Given the description of an element on the screen output the (x, y) to click on. 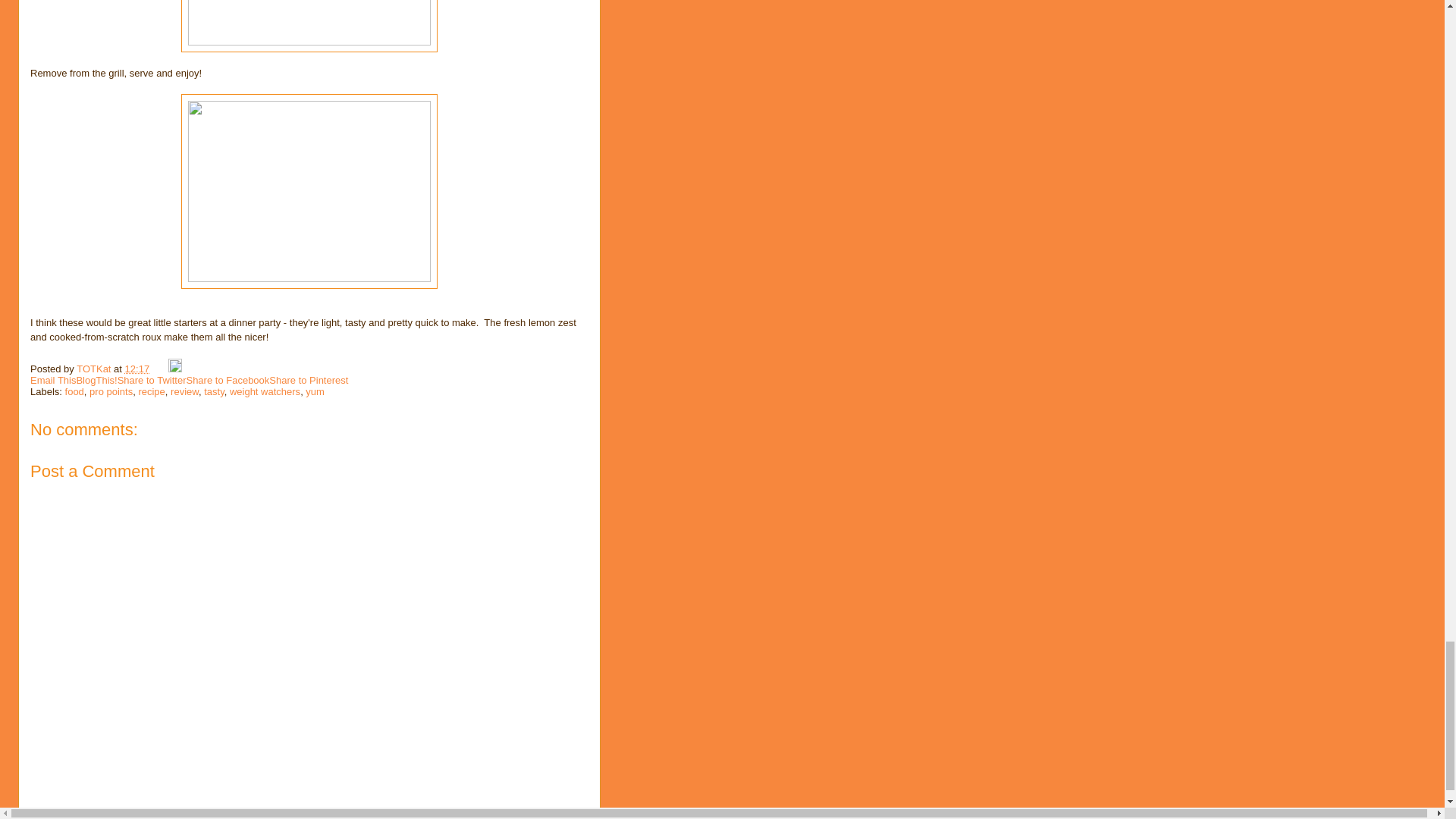
recipe (151, 391)
Share to Pinterest (308, 379)
author profile (95, 368)
pro points (110, 391)
review (184, 391)
Share to Twitter (151, 379)
Share to Facebook (227, 379)
TOTKat (95, 368)
12:17 (137, 368)
Share to Facebook (227, 379)
weight watchers (264, 391)
Email This (52, 379)
tasty (213, 391)
yum (314, 391)
Email Post (160, 368)
